Given the description of an element on the screen output the (x, y) to click on. 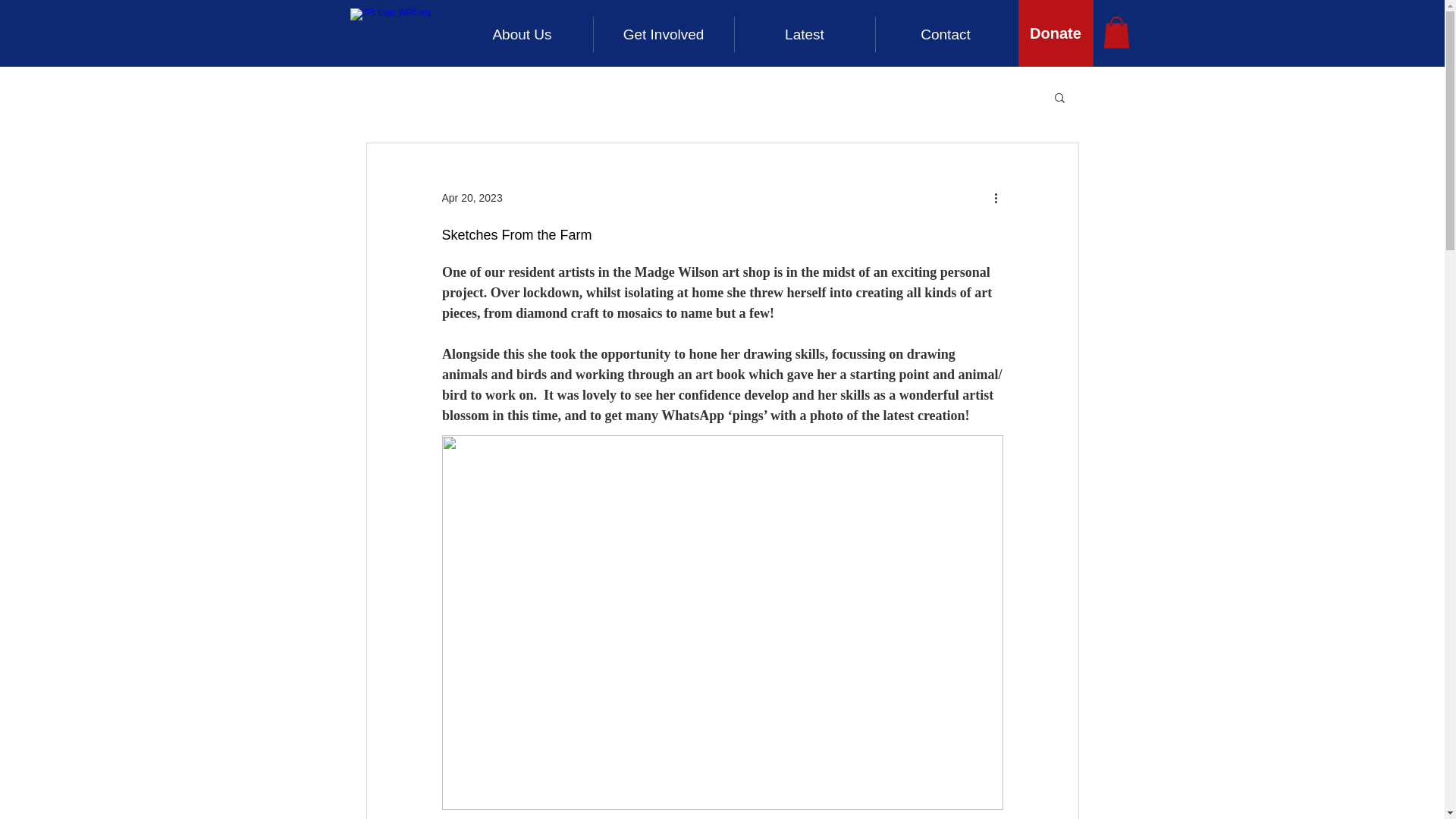
Contact (945, 34)
Donate (1055, 33)
Apr 20, 2023 (471, 196)
